Given the description of an element on the screen output the (x, y) to click on. 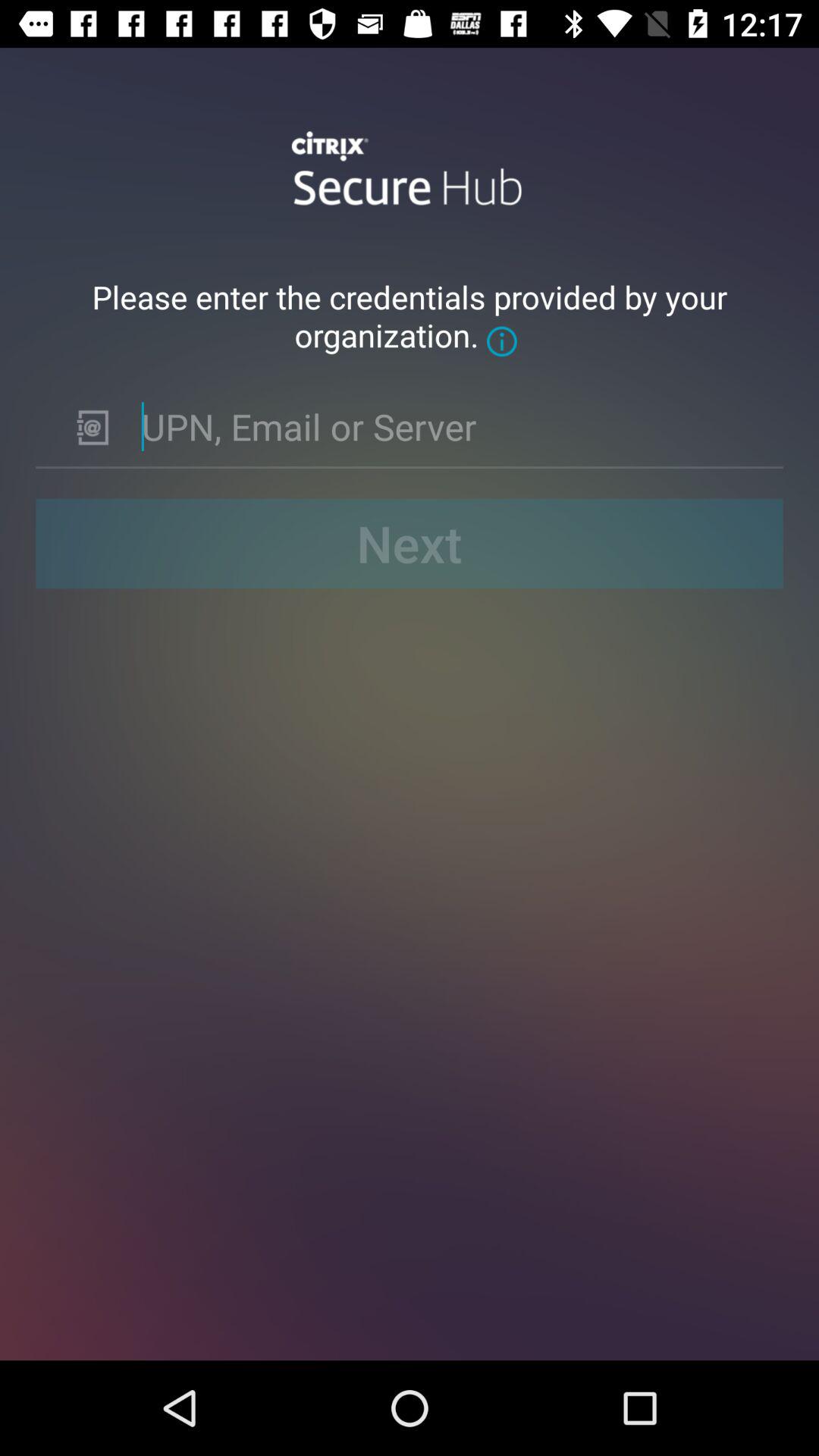
input info (450, 426)
